Given the description of an element on the screen output the (x, y) to click on. 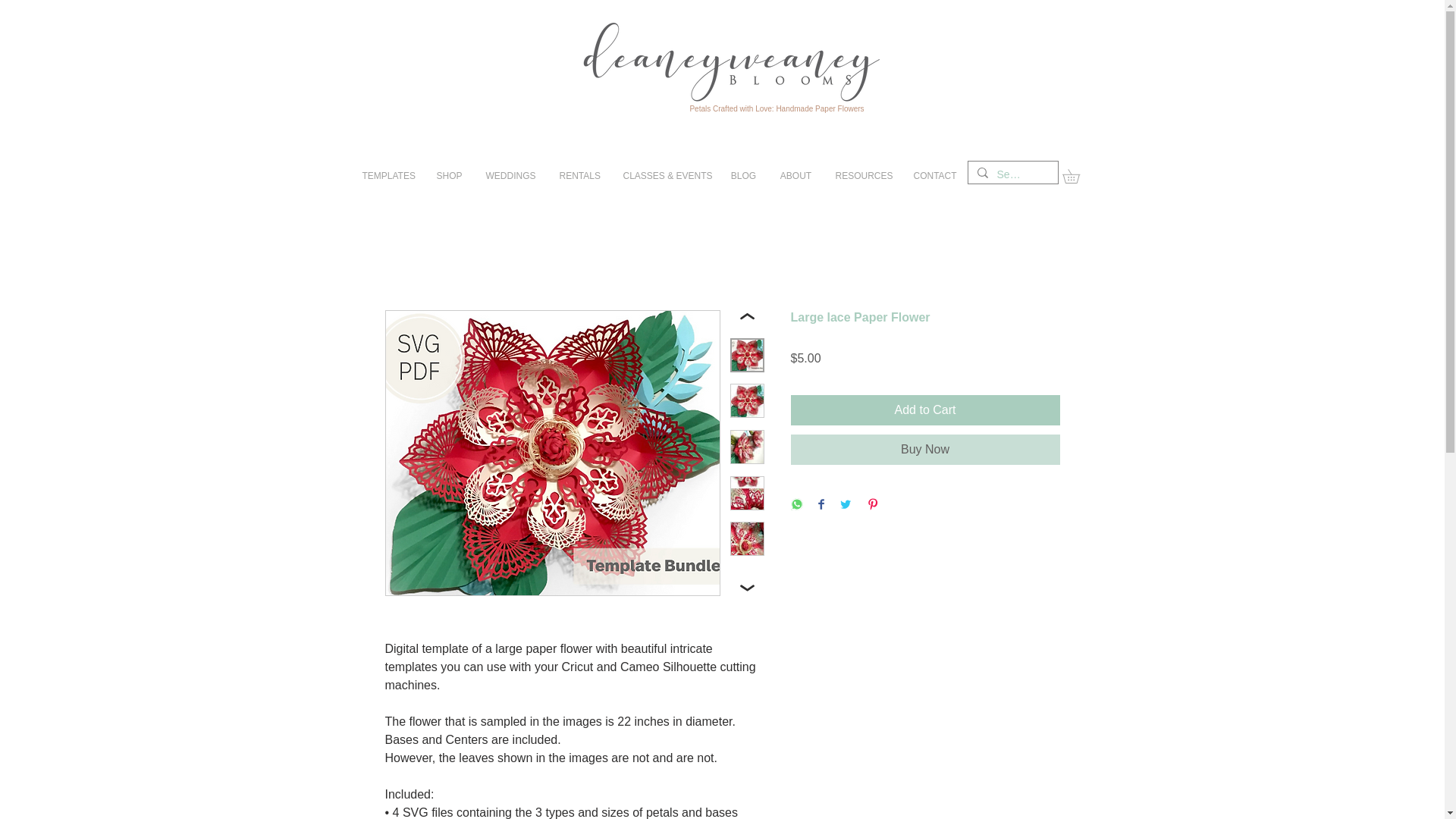
Add to Cart (924, 409)
Buy Now (924, 449)
TEMPLATES (386, 176)
CONTACT (934, 176)
RESOURCES (862, 176)
RENTALS (579, 176)
BLOG (743, 176)
ABOUT (794, 176)
WEDDINGS (510, 176)
